Given the description of an element on the screen output the (x, y) to click on. 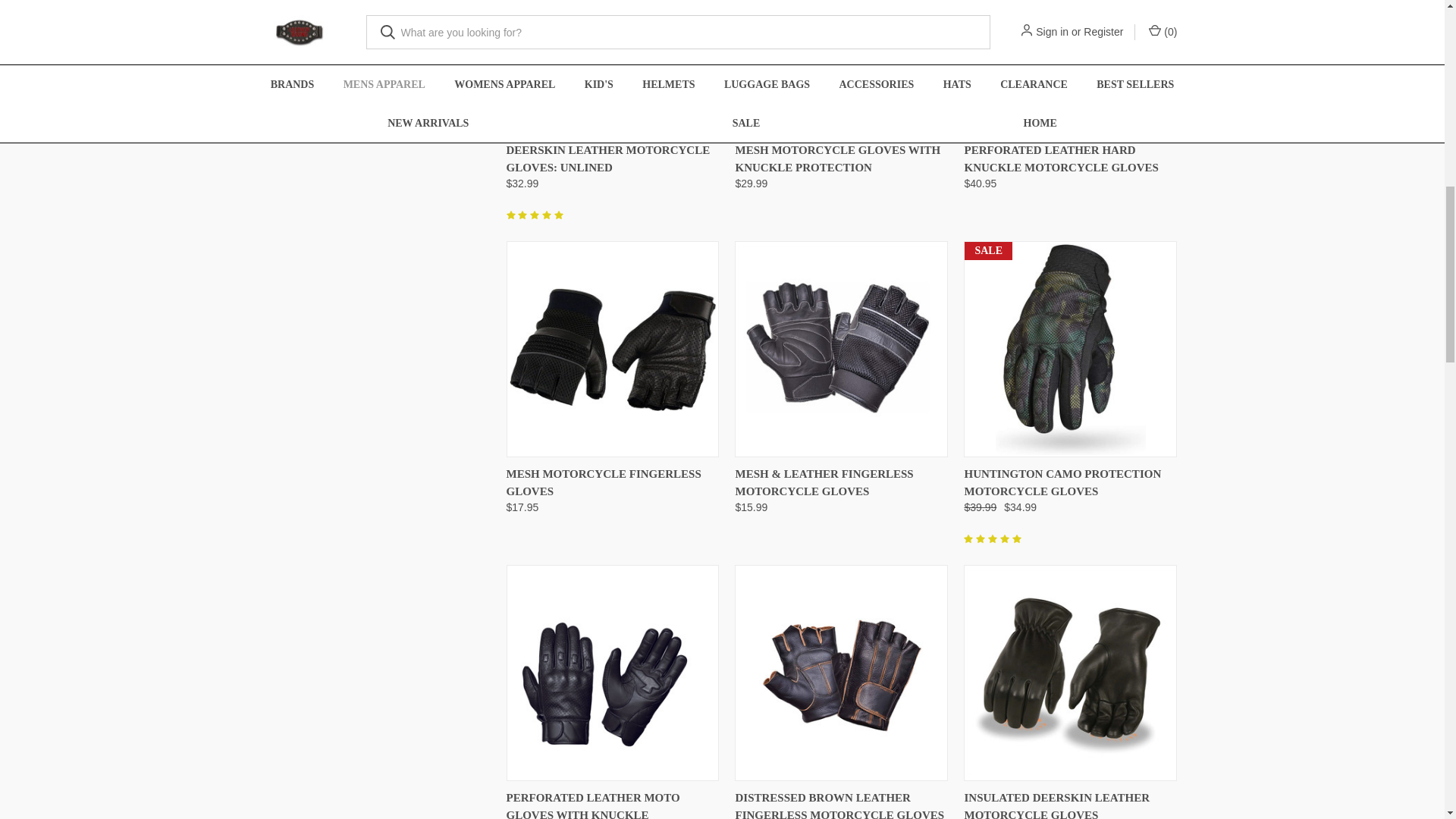
Premium Deerskin Men's Black Leather Gloves, Unlined Riding (612, 64)
Knuckle Armor Mesh Motorcycle Gloves (841, 65)
Torc Huntington Camo Motorcycle Gloves With Armor Knuckles (1069, 349)
Men's Distressed Brown Leather Fingerless Gloves (841, 672)
Perforated Leather Armored Motorcycle Gloves (612, 673)
